Given the description of an element on the screen output the (x, y) to click on. 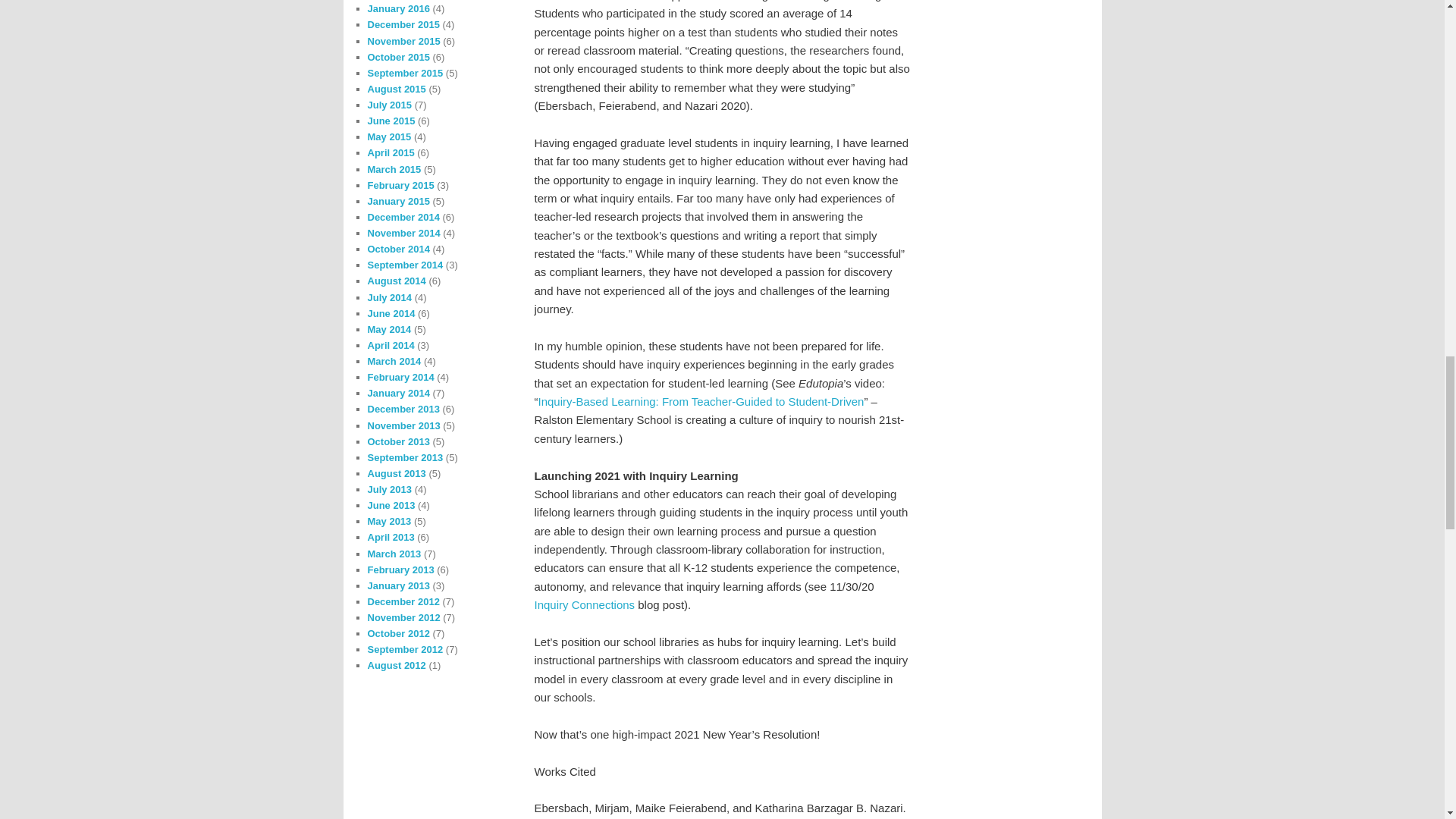
Inquiry Connections (584, 604)
Subscribe me! (1027, 292)
